Given the description of an element on the screen output the (x, y) to click on. 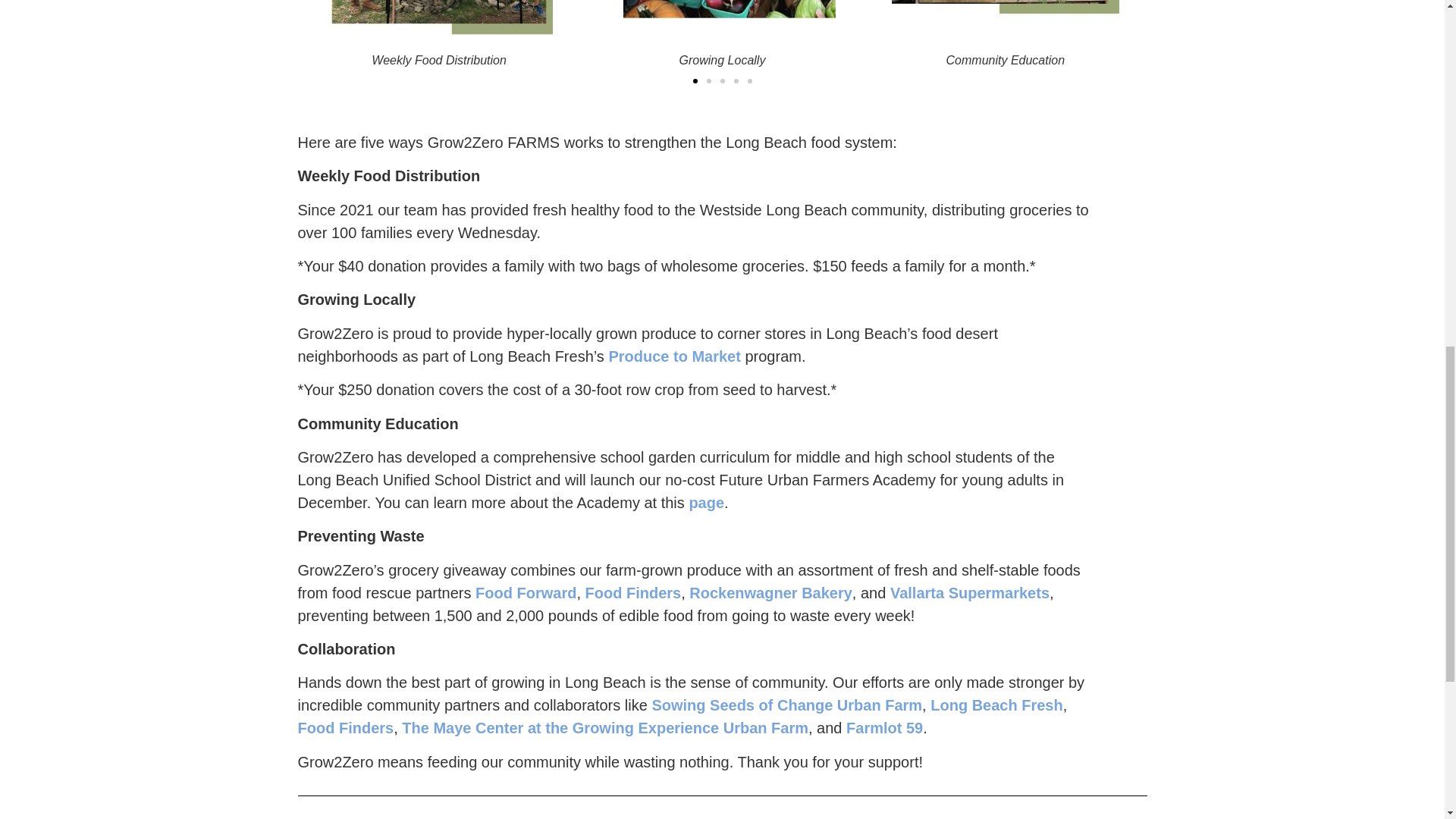
Food Forward (526, 592)
Produce to Market (673, 356)
The Maye Center at the Growing Experience Urban Farm (604, 727)
page (705, 502)
Food Finders (633, 592)
Vallarta Supermarkets (969, 592)
Food Finders (345, 727)
Long Beach Fresh (996, 704)
Sowing Seeds of Change Urban Farm (785, 704)
Rockenwagner Bakery (769, 592)
Farmlot 59 (884, 727)
